Given the description of an element on the screen output the (x, y) to click on. 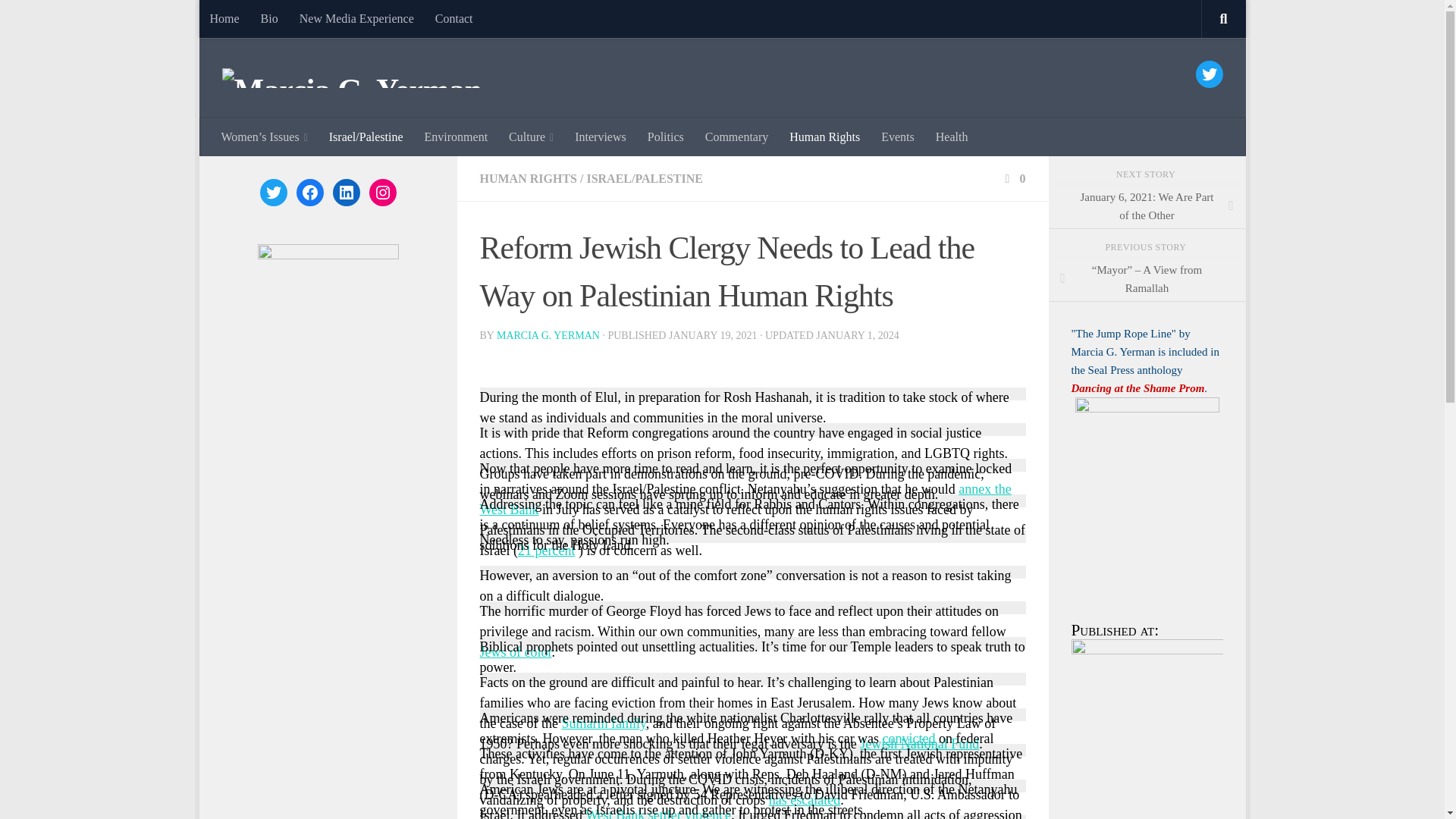
Contact (454, 18)
Posts by Marcia G. Yerman (547, 335)
Culture (530, 136)
Health (951, 136)
Commentary (736, 136)
Environment (456, 136)
Human Rights (824, 136)
Bio (269, 18)
HUMAN RIGHTS (527, 178)
Home (223, 18)
